Given the description of an element on the screen output the (x, y) to click on. 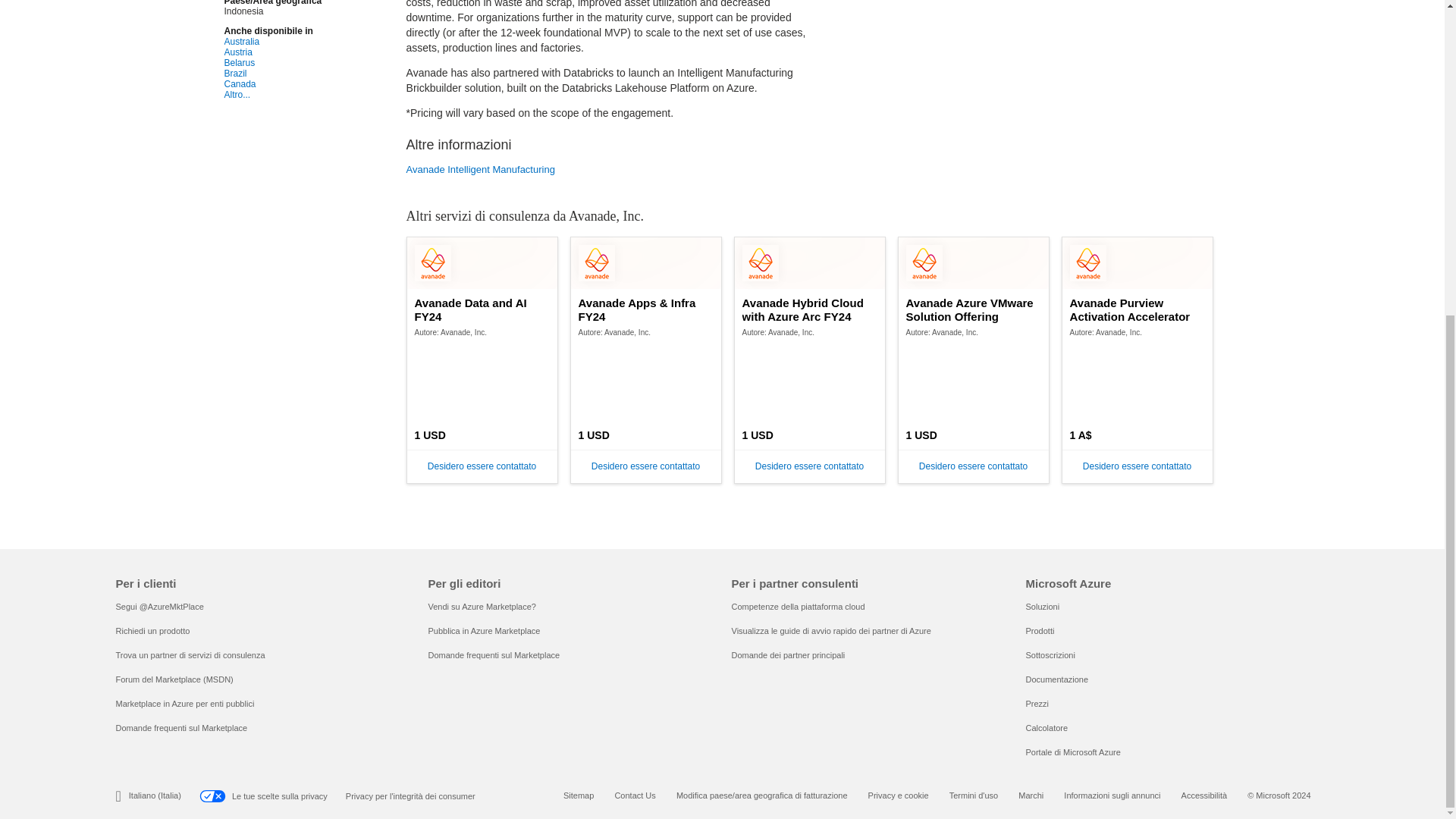
Avanade Azure VMware Solution Offering (973, 309)
Avanade Data and AI FY24 (482, 309)
Avanade Purview Activation Accelerator (1137, 309)
Avanade Hybrid Cloud with Azure Arc FY24 (809, 309)
